Given the description of an element on the screen output the (x, y) to click on. 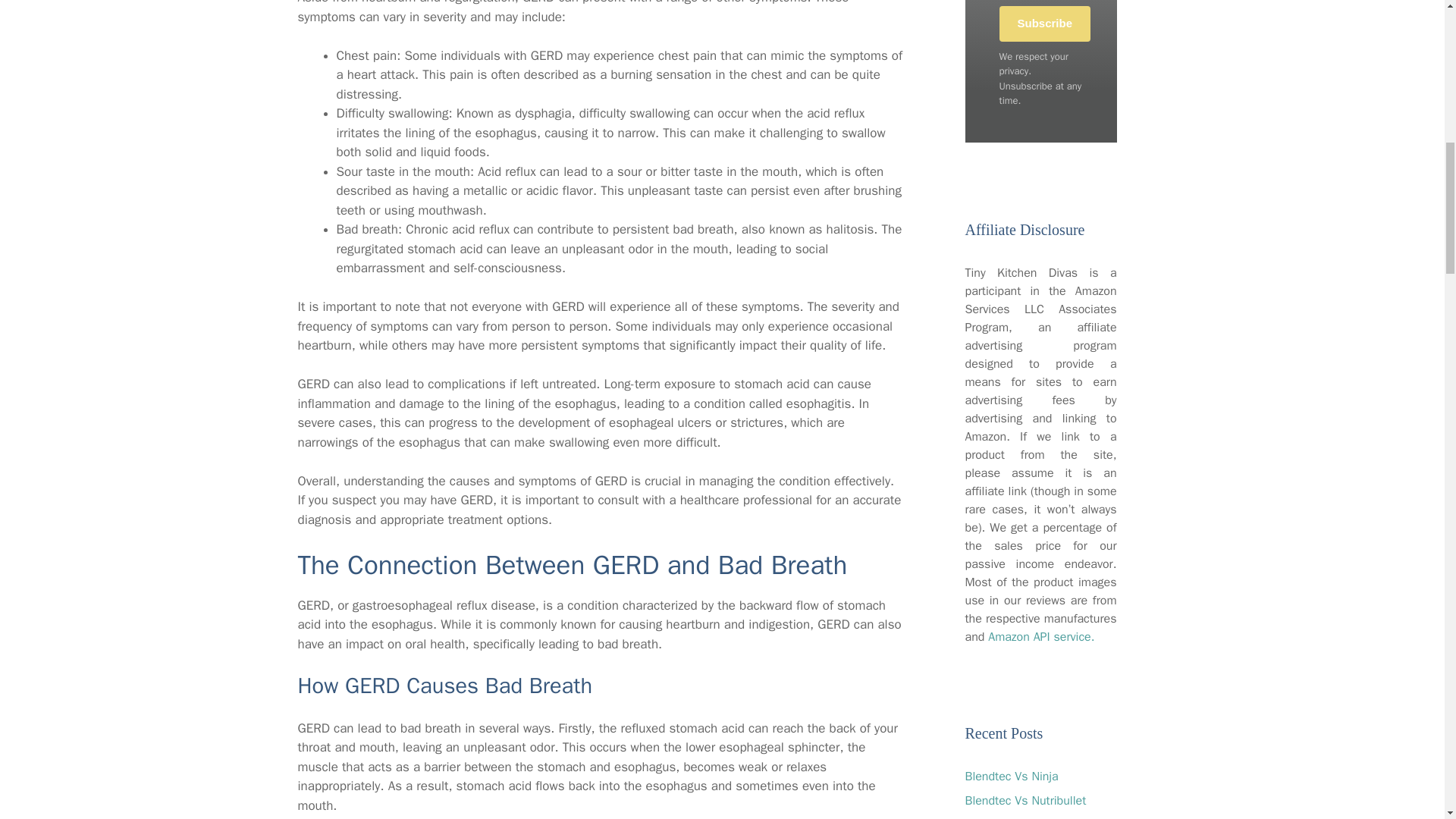
Subscribe (1044, 23)
Blendtec Vs Nutribullet (1024, 800)
Amazon API service. (1041, 636)
Scroll back to top (1406, 720)
Blendtec Vs Ninja (1010, 776)
